Given the description of an element on the screen output the (x, y) to click on. 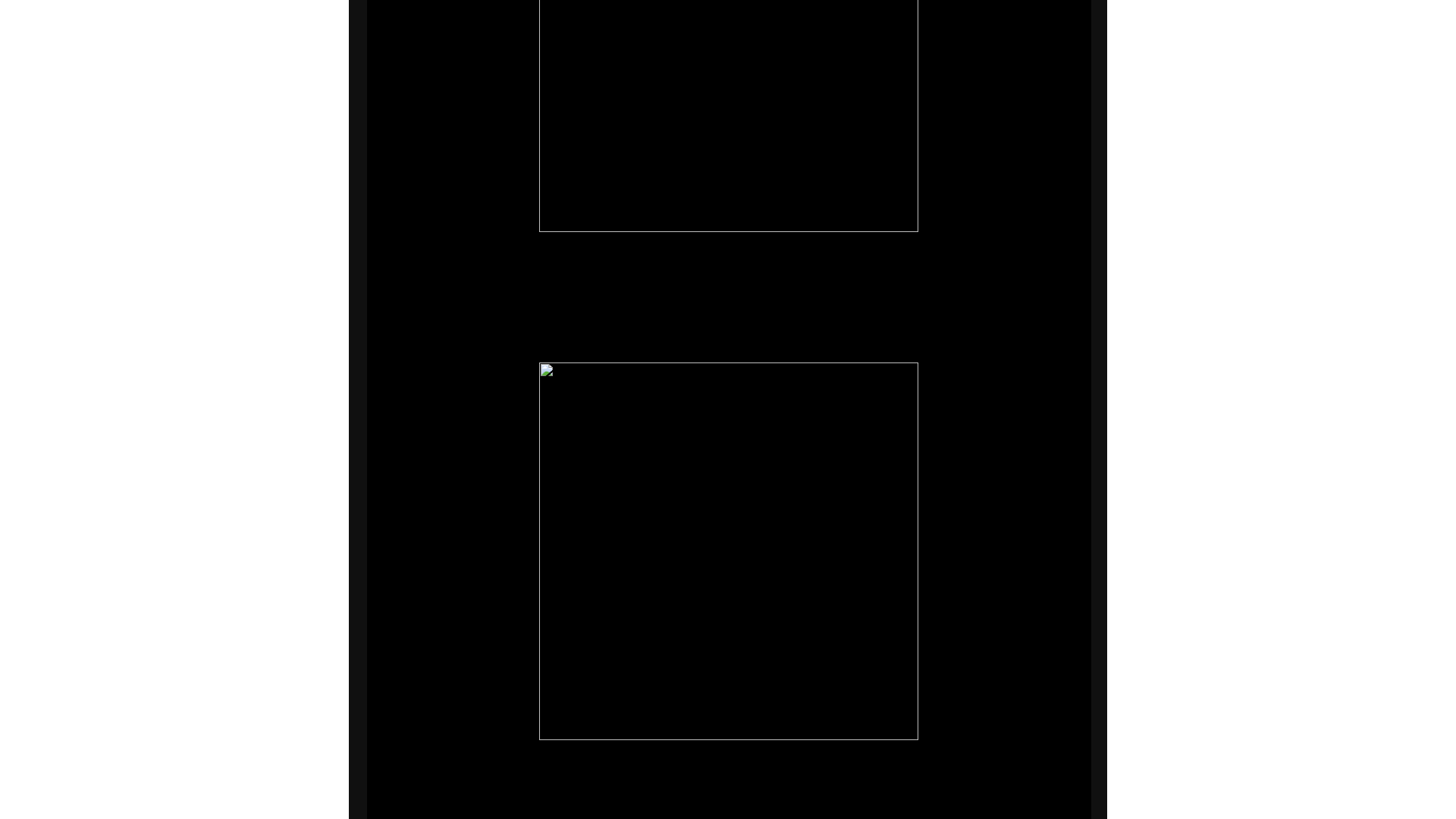
YP01-cr (728, 115)
